Given the description of an element on the screen output the (x, y) to click on. 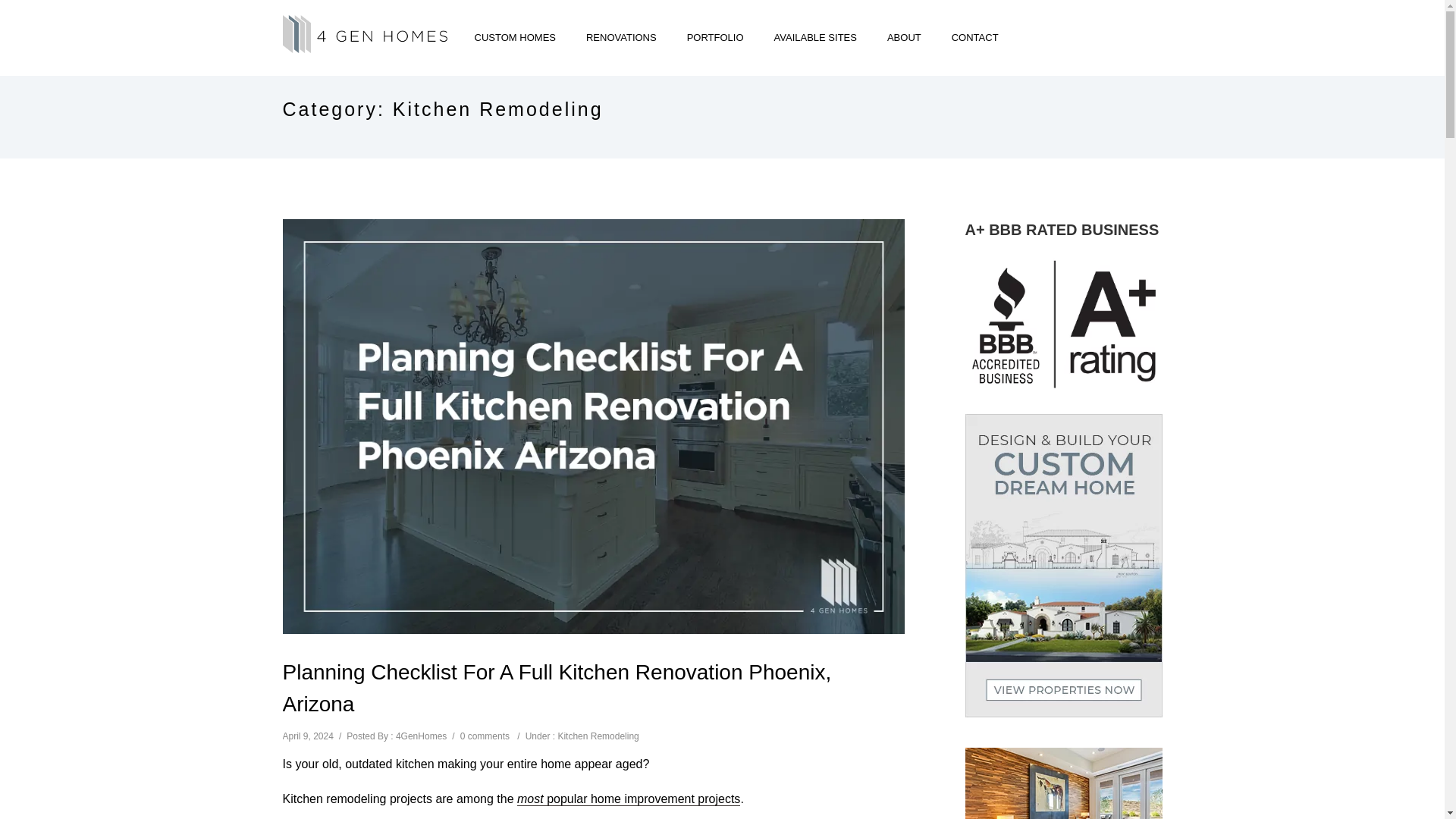
CUSTOM HOMES (515, 37)
ABOUT (904, 37)
RENOVATIONS (620, 37)
CONTACT (967, 37)
most popular home improvement projects (627, 798)
PORTFOLIO (714, 37)
View all posts in Kitchen Remodeling (598, 736)
Kitchen Remodeling (598, 736)
AVAILABLE SITES (815, 37)
